Given the description of an element on the screen output the (x, y) to click on. 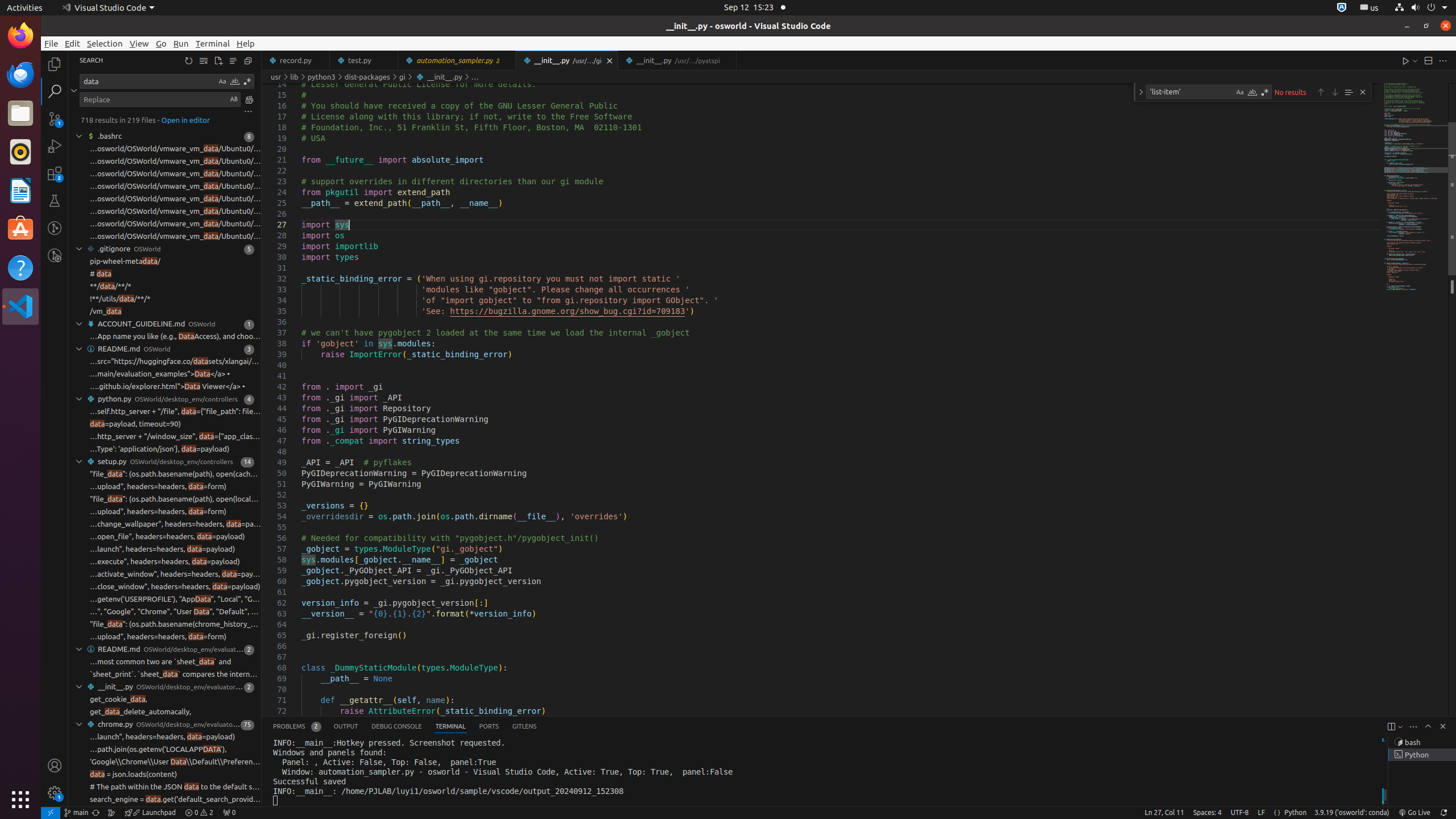
' "file_data": (os.path.basename(path), open(cache_path, "rb"))' at column 23 found data Element type: tree-item (164, 473)
' """import os; print(os.path.join(os.getenv('USERPROFILE'), "AppData", "Local", "Google", "Chrome", "User Data", "Default", "History"))""")[' at column 80 found Data Element type: tree-item (164, 598)
/vm_data Element type: link (105, 310)
' <img src="https://huggingface.co/datasets/xlangai/assets/resolve/main/github_banner_v2.png" alt="Banner">' at column 36 found data Element type: tree-item (164, 360)
…getenv('USERPROFILE'), "AppData", "Local", "Google", "Chrome", "User Data", "Default", "History"))""")[ Element type: link (175, 598)
